Given the description of an element on the screen output the (x, y) to click on. 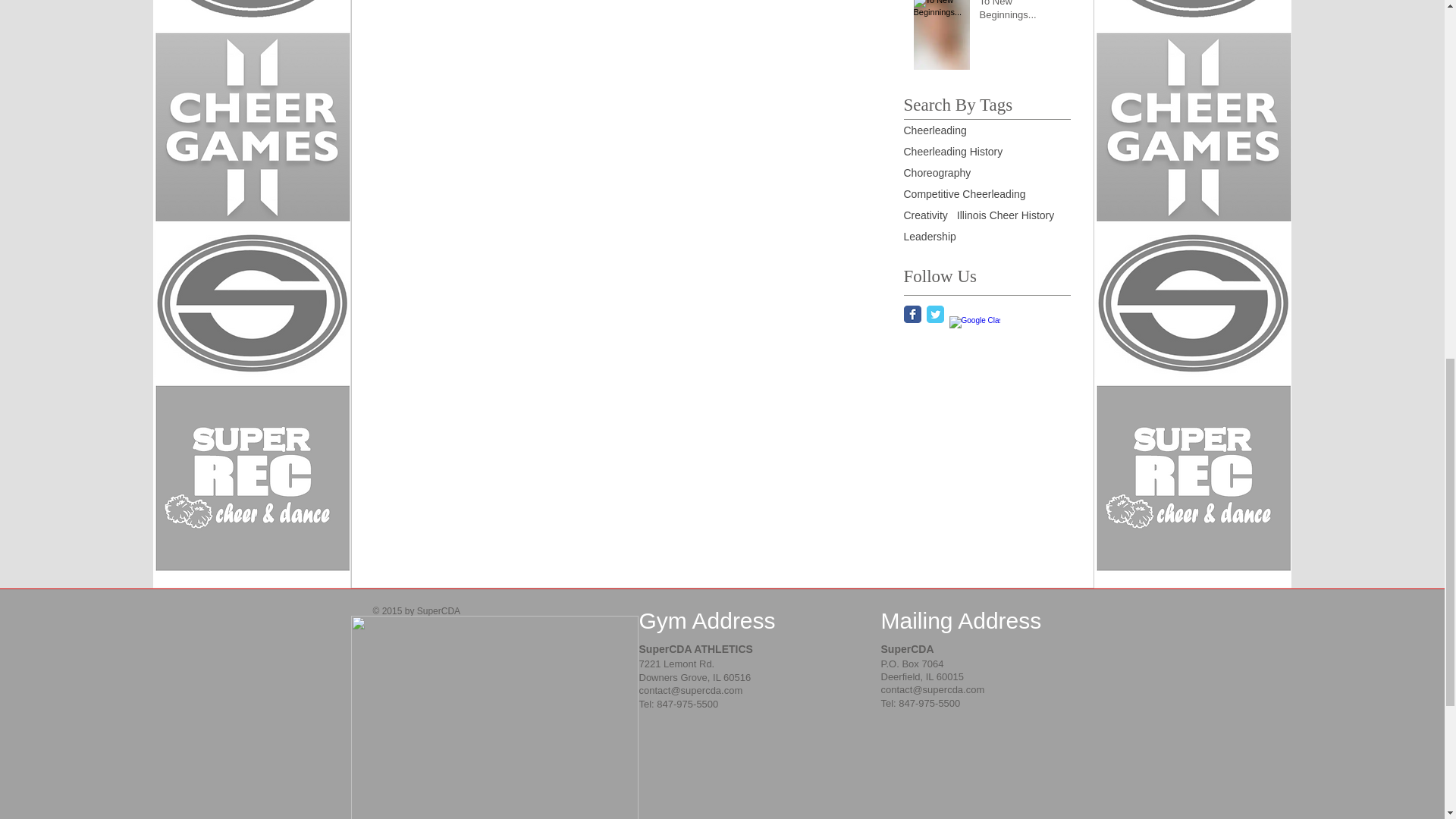
To New Beginnings... (1020, 13)
Cheerleading History (953, 151)
Illinois Cheer History (1005, 215)
important gym dates with fall note.png (493, 717)
Creativity (925, 215)
Choreography (937, 173)
Cheerleading (935, 130)
Leadership (930, 236)
Competitive Cheerleading (965, 193)
